Given the description of an element on the screen output the (x, y) to click on. 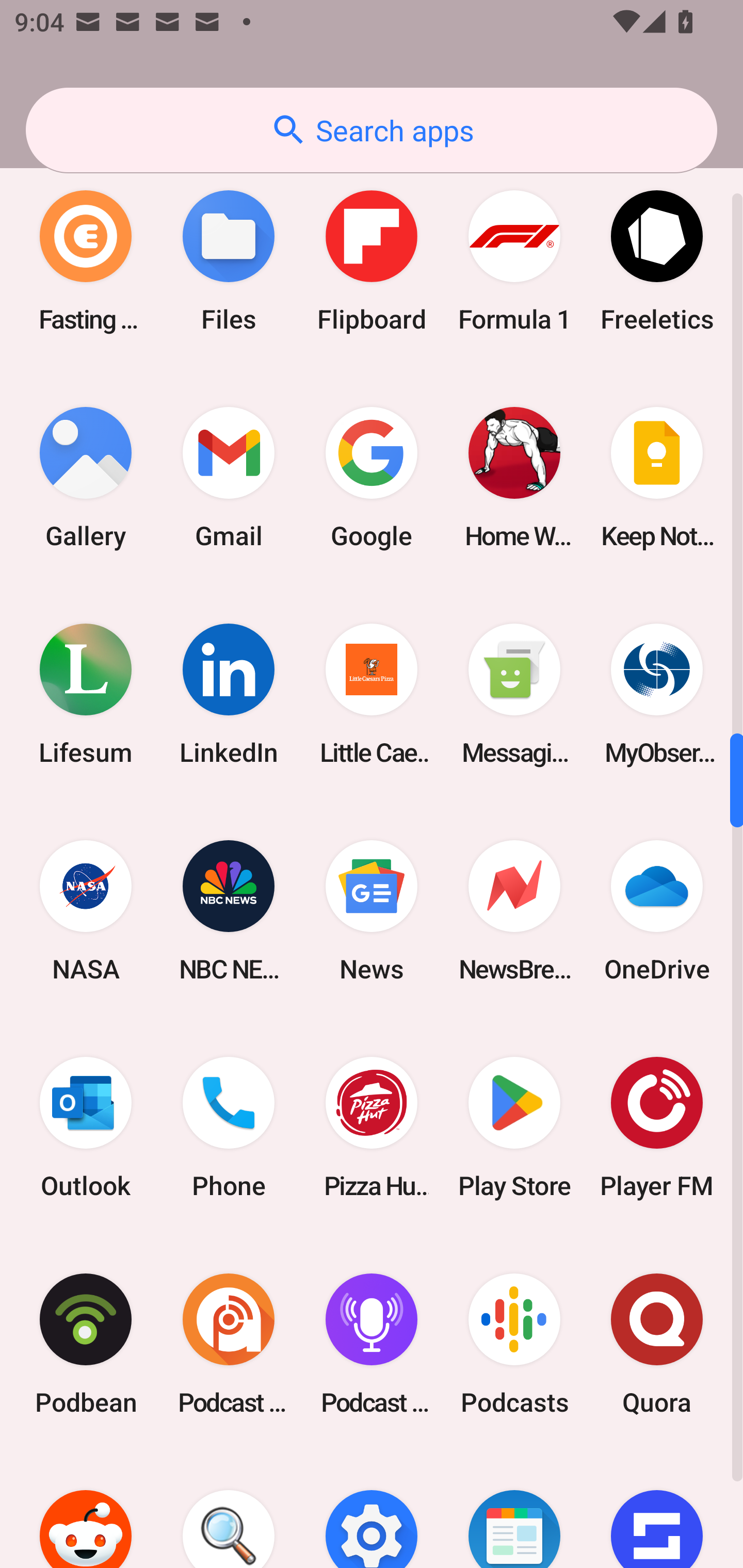
  Search apps (371, 130)
Fasting Coach (85, 261)
Files (228, 261)
Flipboard (371, 261)
Formula 1 (514, 261)
Freeletics (656, 261)
Gallery (85, 478)
Gmail (228, 478)
Google (371, 478)
Home Workout (514, 478)
Keep Notes (656, 478)
Lifesum (85, 694)
LinkedIn (228, 694)
Little Caesars Pizza (371, 694)
Messaging (514, 694)
MyObservatory (656, 694)
NASA (85, 910)
NBC NEWS (228, 910)
News (371, 910)
NewsBreak (514, 910)
OneDrive (656, 910)
Outlook (85, 1127)
Phone (228, 1127)
Pizza Hut HK & Macau (371, 1127)
Play Store (514, 1127)
Player FM (656, 1127)
Podbean (85, 1343)
Podcast Addict (228, 1343)
Podcast Player (371, 1343)
Podcasts (514, 1343)
Quora (656, 1343)
Reddit (85, 1509)
Search (228, 1509)
Settings (371, 1509)
SmartNews (514, 1509)
Sofascore (656, 1509)
